Given the description of an element on the screen output the (x, y) to click on. 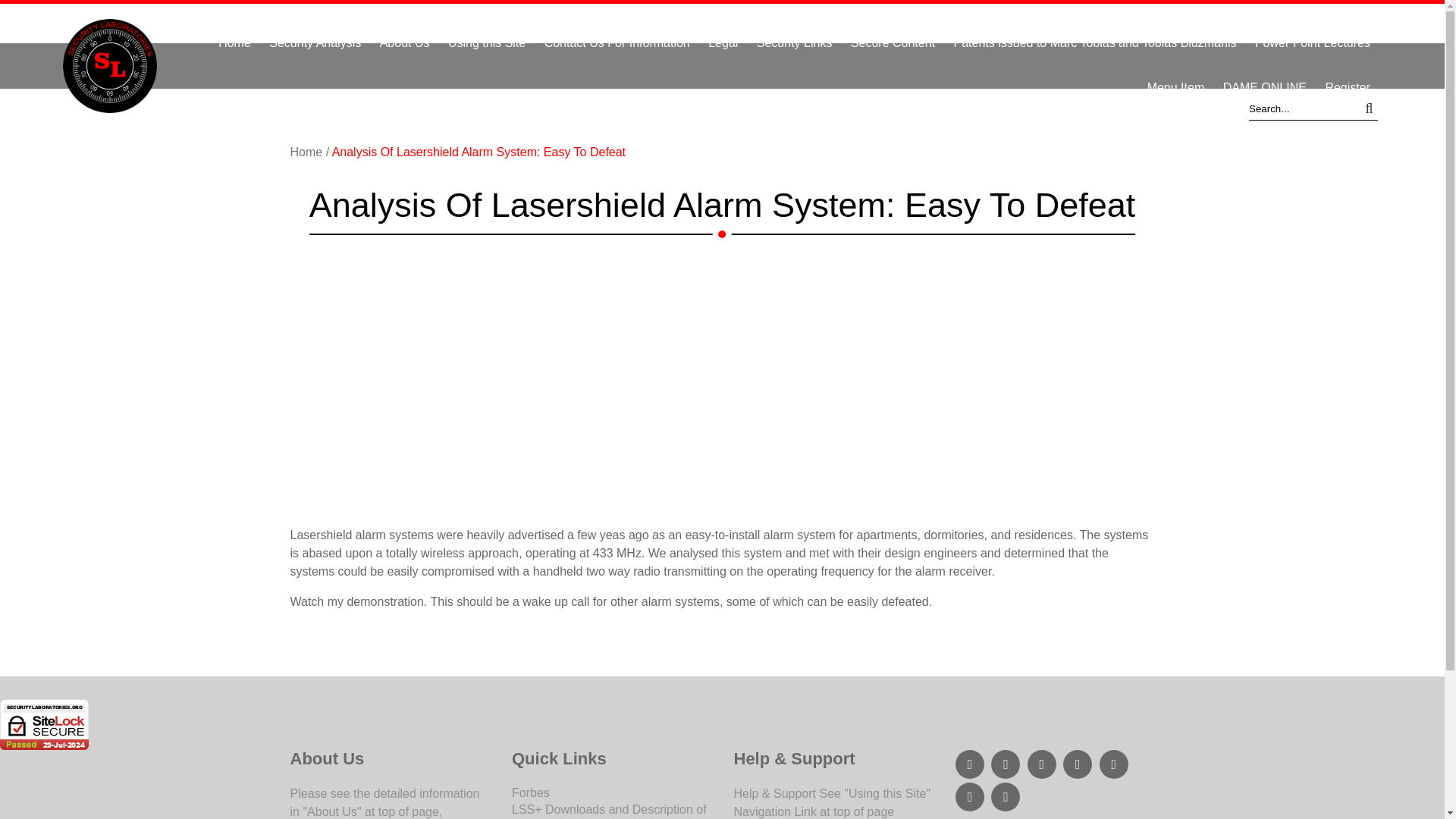
Security Links (794, 42)
About Us (405, 42)
Home (306, 151)
Contact Us For Information (617, 42)
Home (235, 42)
Legal (722, 42)
Patents issued to Marc Tobias and Tobias Bluzmanis (1093, 42)
Menu Item (1176, 87)
Secure Content (892, 42)
Forbes (531, 792)
Using this Site (486, 42)
SiteLock (44, 724)
Security Analysis (315, 42)
Power Point Lectures (1312, 42)
DAME ONLINE (1264, 87)
